Given the description of an element on the screen output the (x, y) to click on. 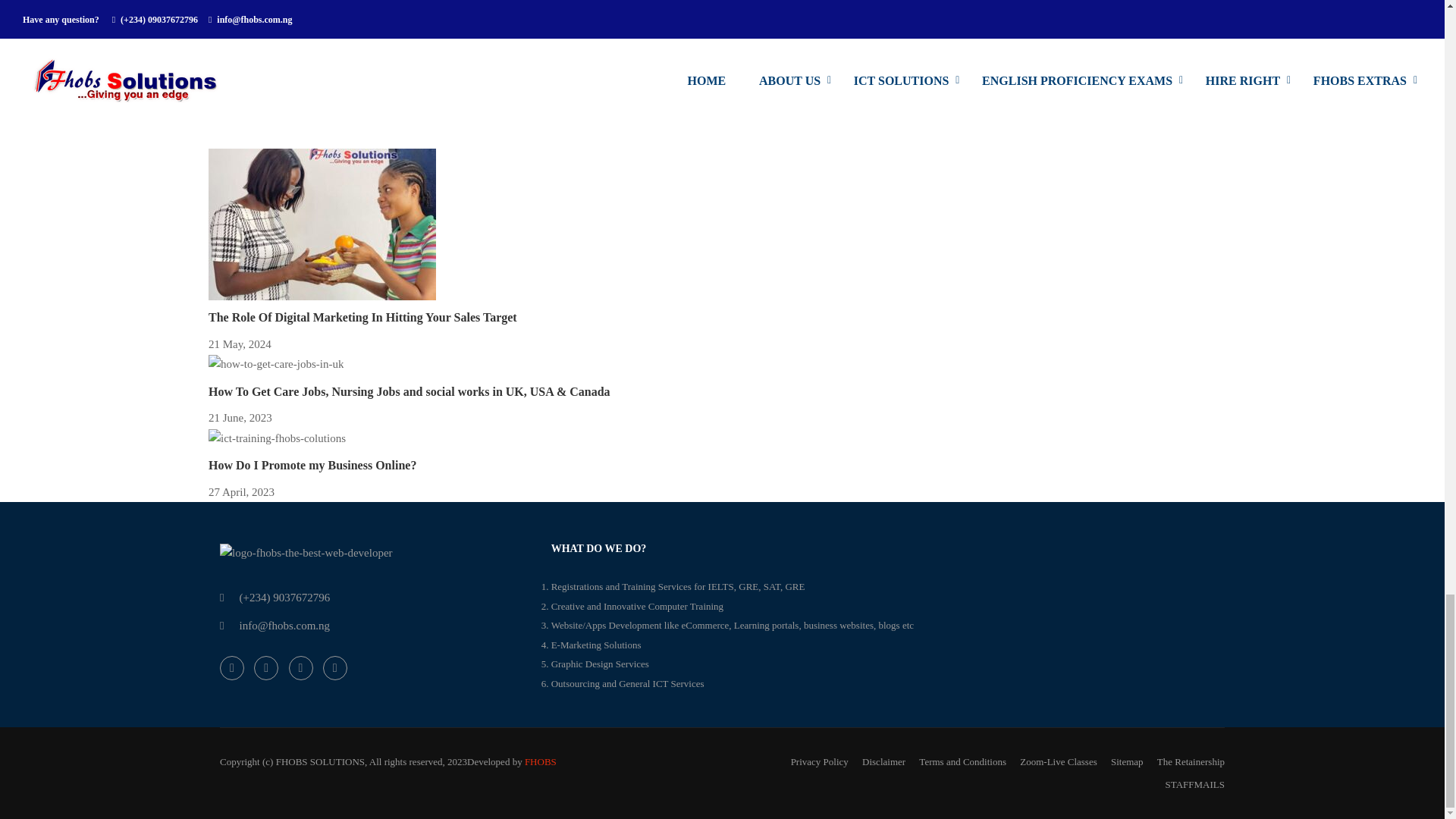
how-to-get-care-jobs-in-uk (275, 364)
the-role-of-digital-marketing-in-hitting-your-sales-taget (321, 224)
The Role Of Digital Marketing In Hitting Your Sales Target (362, 317)
ict-training-fhobs-colutions (277, 438)
